Given the description of an element on the screen output the (x, y) to click on. 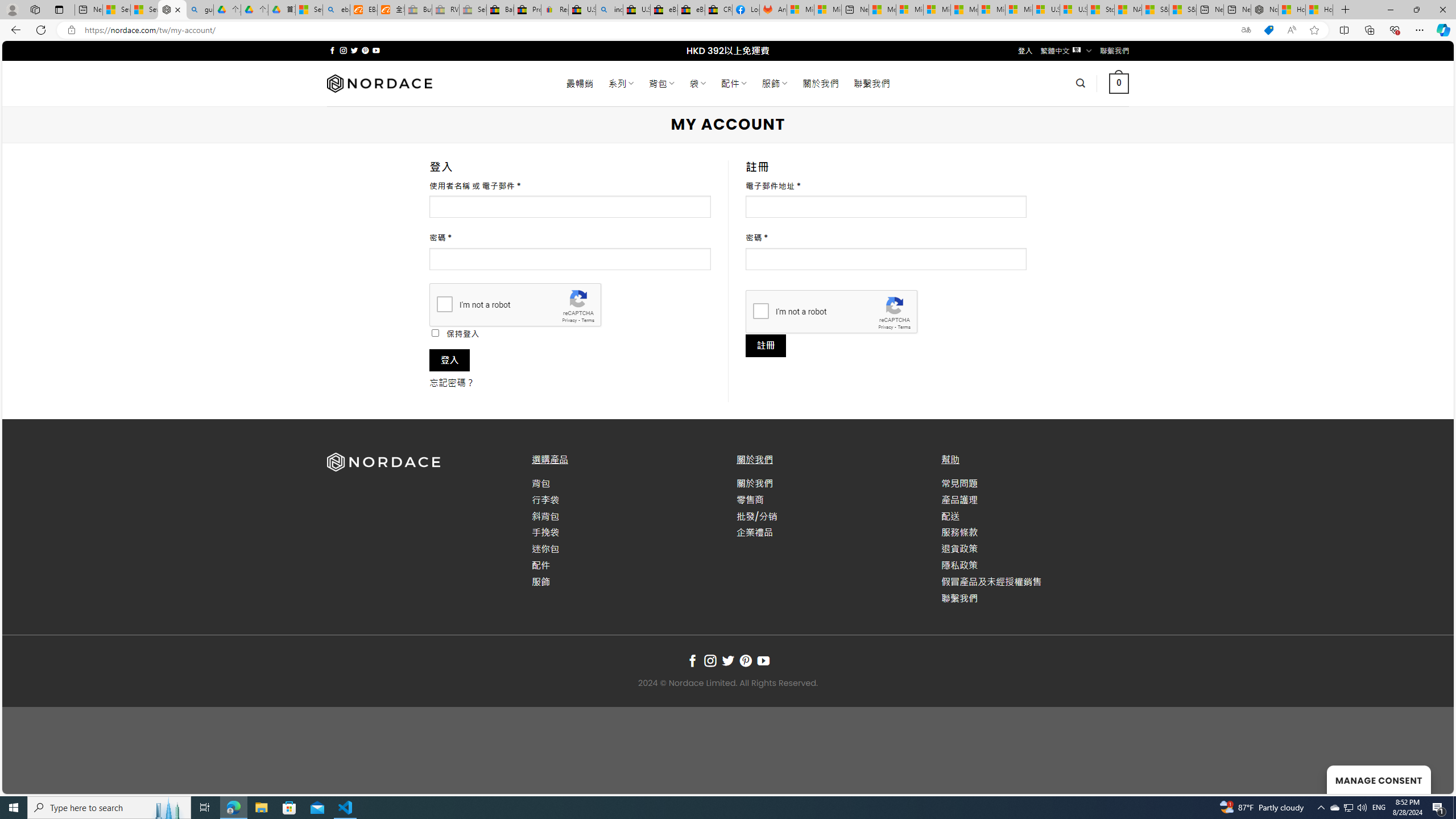
eBay Inc. Reports Third Quarter 2023 Results (691, 9)
  0   (1118, 83)
